Given the description of an element on the screen output the (x, y) to click on. 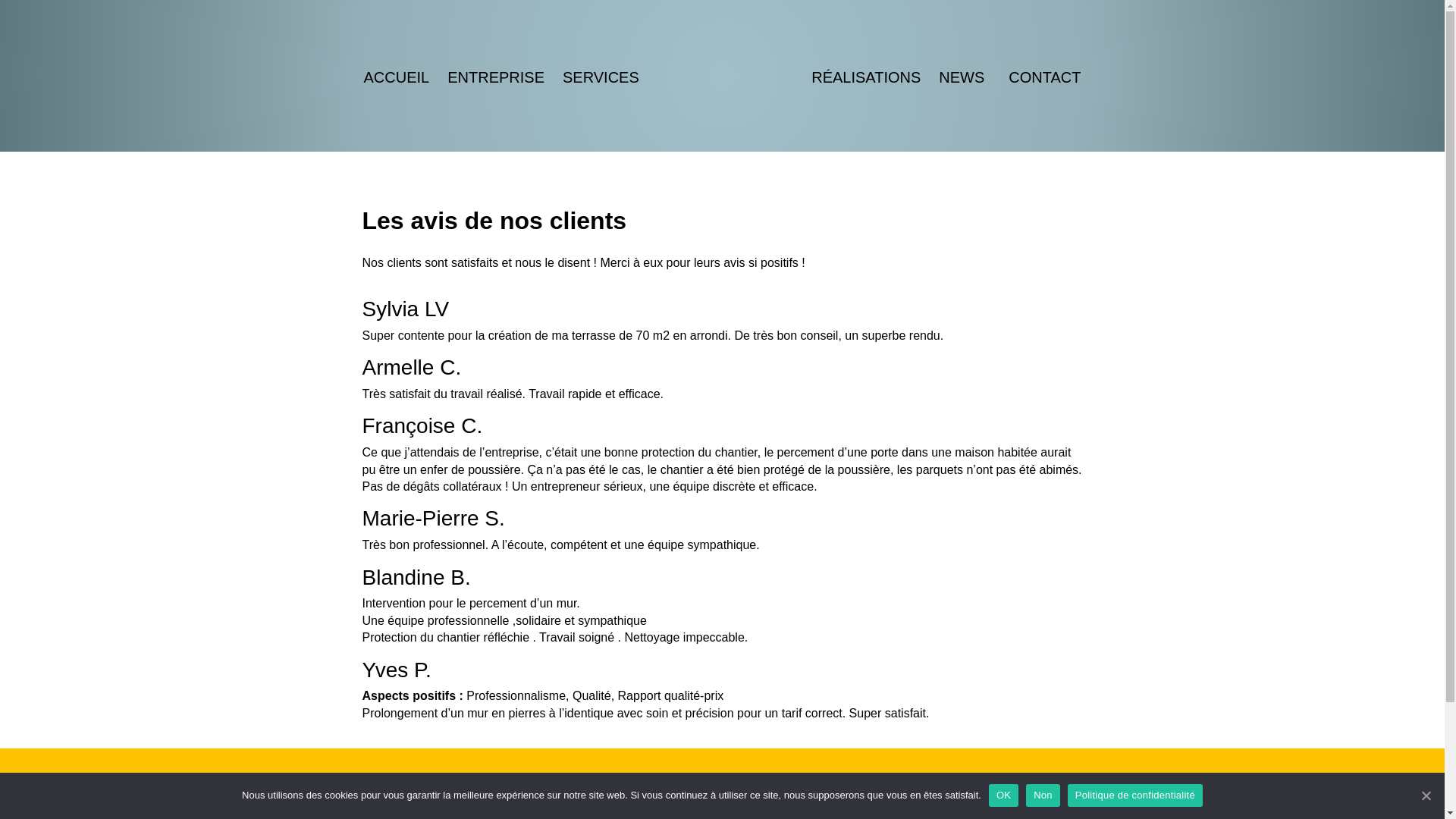
Entreprise Element type: text (706, 807)
ACCUEIL Element type: text (396, 76)
Non Element type: text (1043, 795)
ENTREPRISE Element type: text (495, 76)
OK Element type: text (1003, 795)
CONTACT Element type: text (1044, 76)
Accueil Element type: text (698, 788)
SERVICES Element type: text (600, 76)
NEWS Element type: text (964, 76)
